Given the description of an element on the screen output the (x, y) to click on. 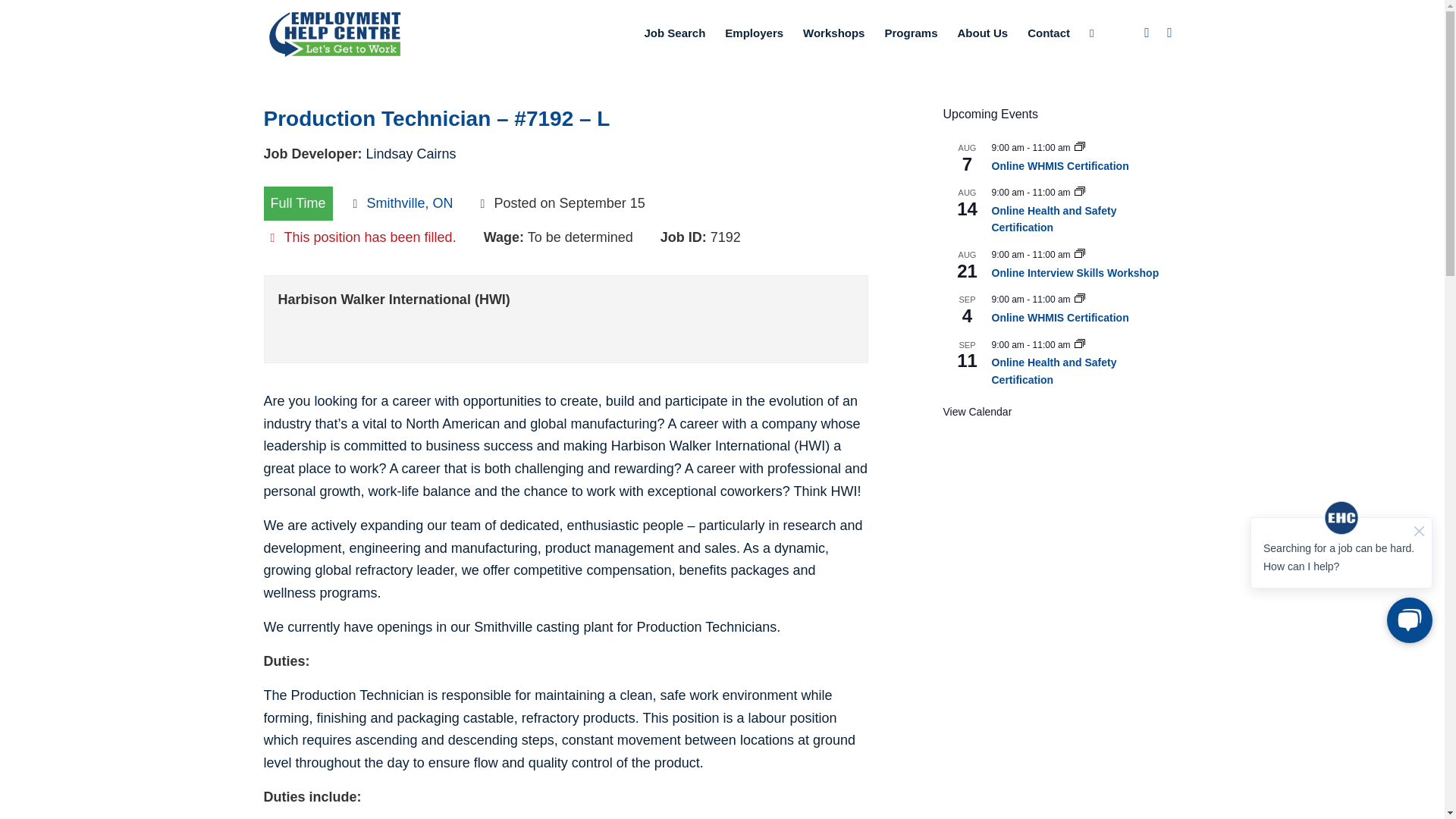
About Us (982, 33)
Online Interview Skills Workshop (1074, 273)
Online Health and Safety Certification (1053, 371)
Facebook (1146, 32)
X (1169, 32)
Job Search (673, 33)
Online Health and Safety Certification (1053, 219)
Employers (753, 33)
Online WHMIS Certification (1060, 318)
Event Series (1079, 192)
Event Series (1079, 254)
Programs (911, 33)
Online WHMIS Certification (1060, 165)
Online Health and Safety Certification (1053, 371)
Online WHMIS Certification (1060, 165)
